Given the description of an element on the screen output the (x, y) to click on. 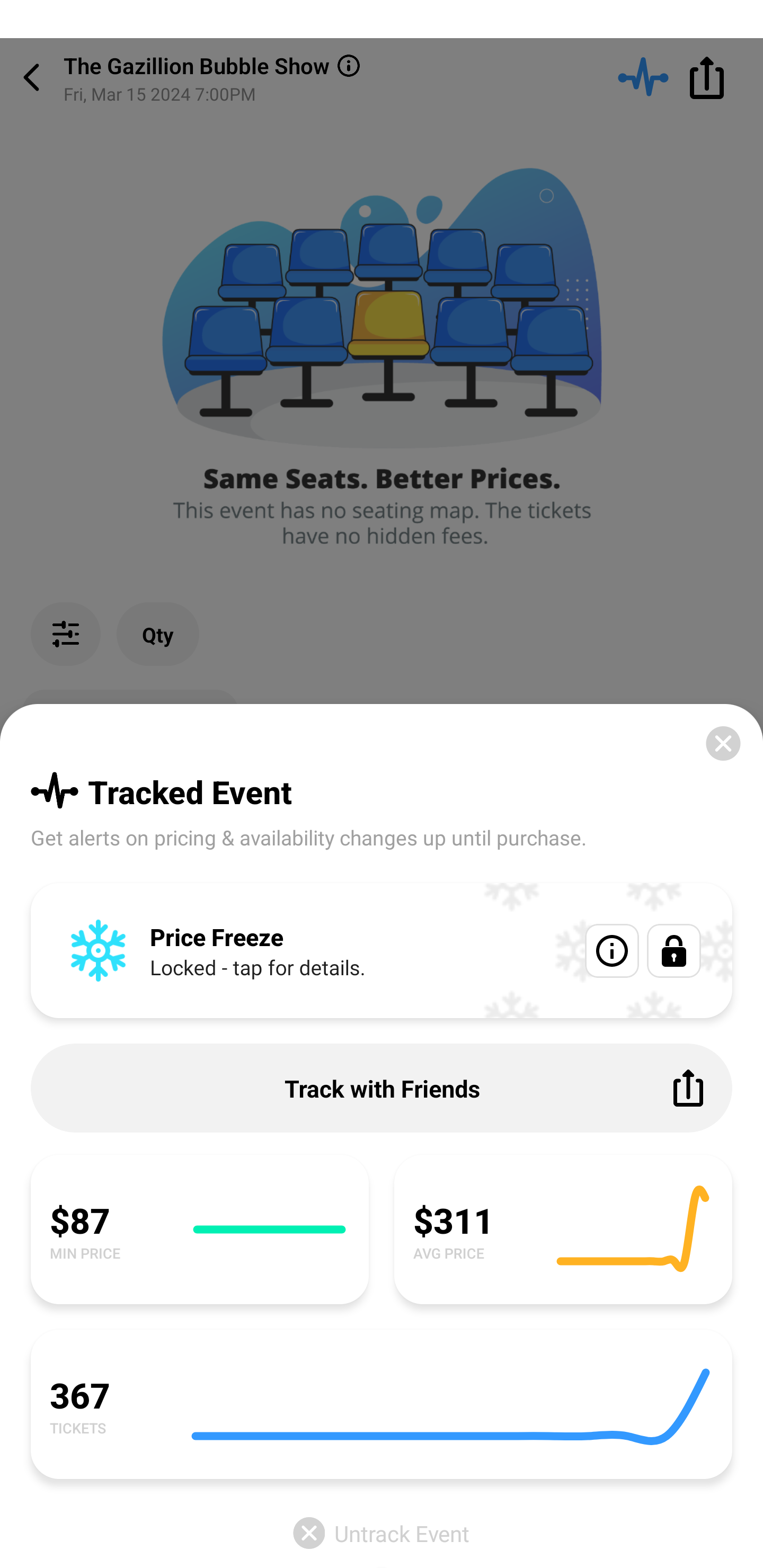
Track with Friends (381, 1088)
Untrack Event (381, 1533)
